Given the description of an element on the screen output the (x, y) to click on. 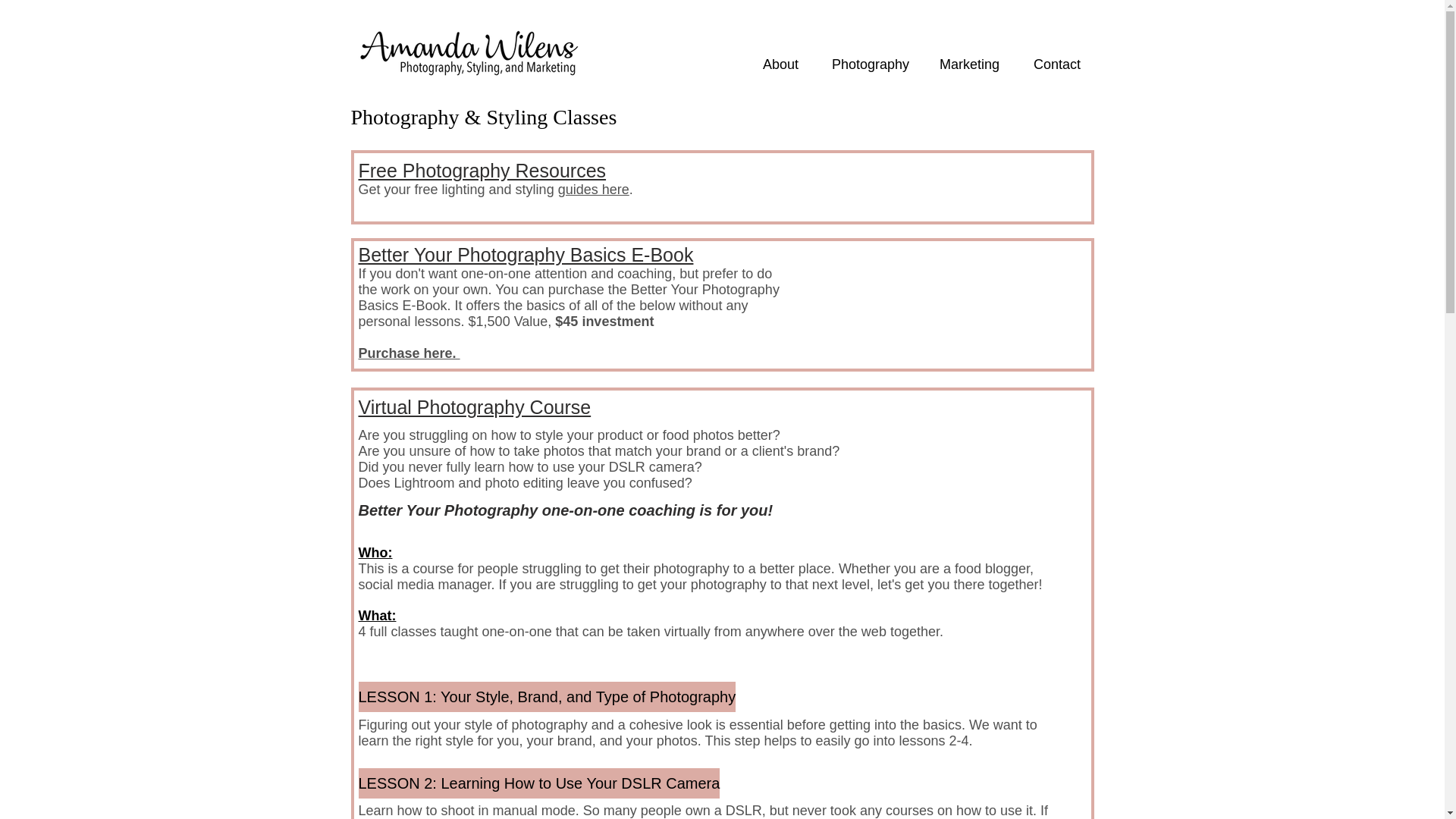
guides here (592, 189)
Photography (868, 64)
Better Your Photography Basics E-Book (525, 254)
Contact (1056, 64)
About (779, 64)
Purchase here.  (409, 353)
Marketing (967, 64)
